Given the description of an element on the screen output the (x, y) to click on. 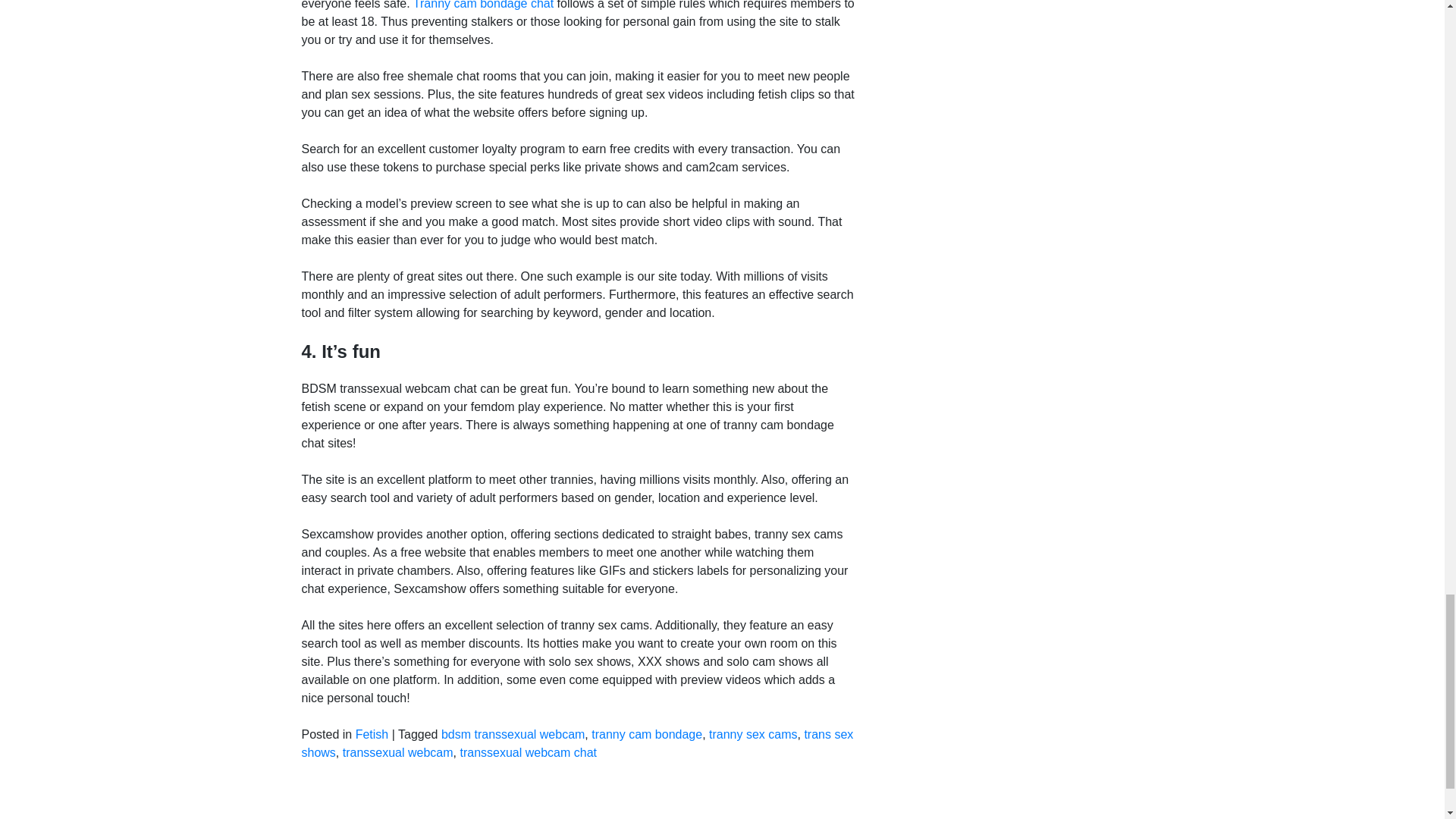
bdsm transsexual webcam (513, 734)
trans sex shows (577, 743)
Fetish (371, 734)
transsexual webcam chat (528, 752)
tranny cam bondage (646, 734)
tranny sex cams (752, 734)
transsexual webcam (397, 752)
Tranny cam bondage chat (483, 4)
